Given the description of an element on the screen output the (x, y) to click on. 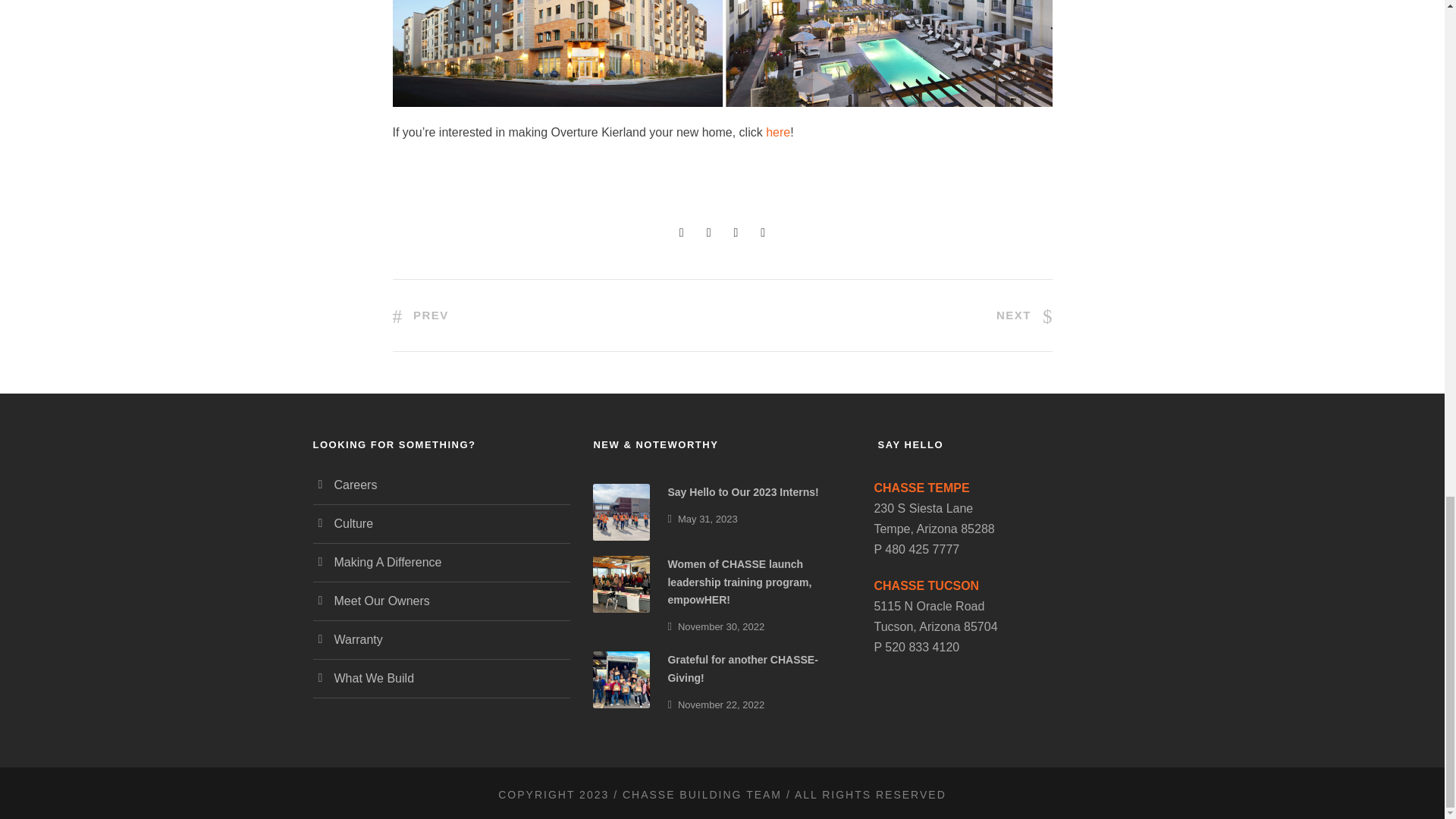
here (777, 132)
PREV (420, 314)
NEXT (1023, 314)
